Given the description of an element on the screen output the (x, y) to click on. 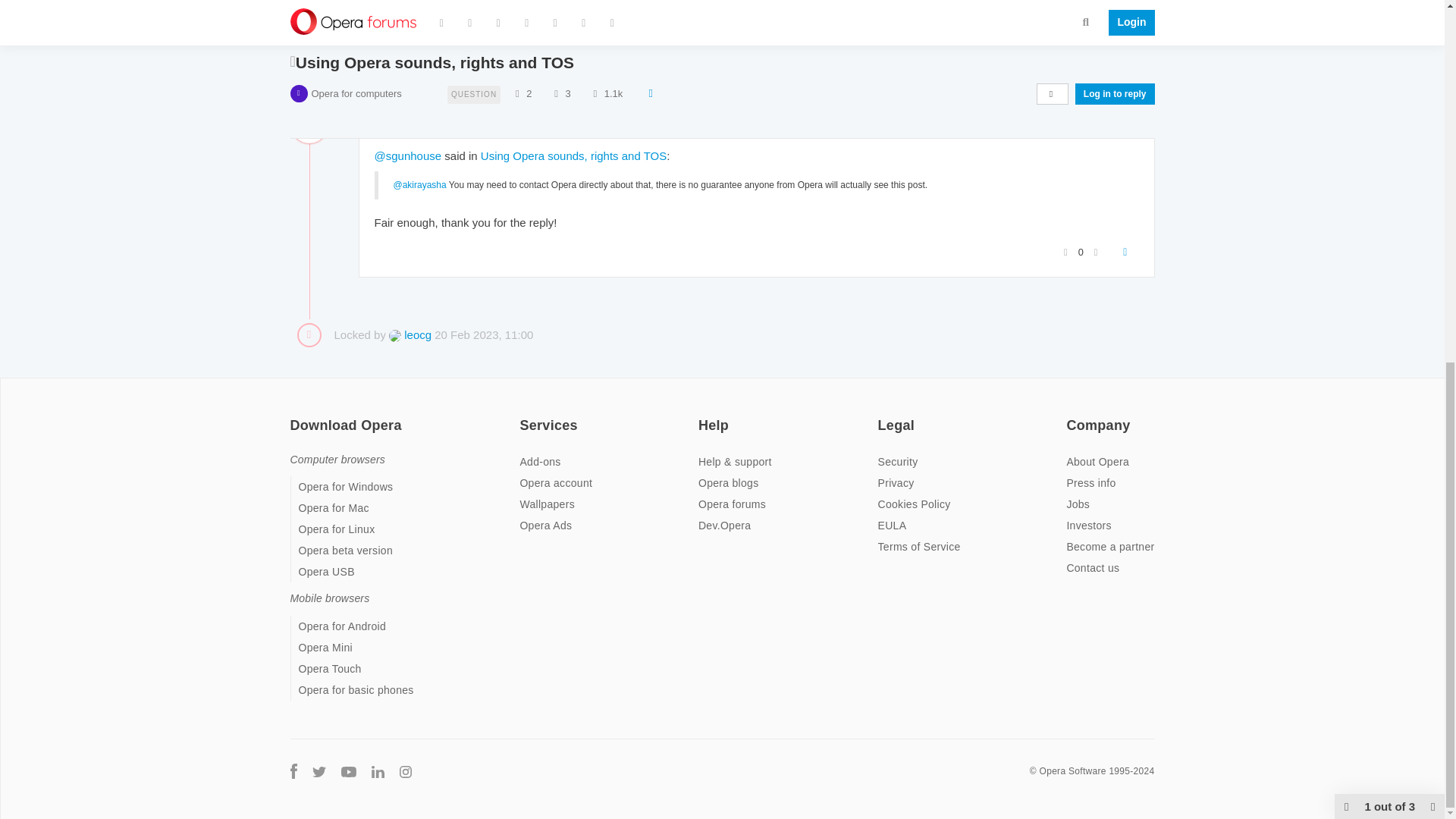
on (523, 415)
on (1070, 415)
on (881, 415)
on (702, 415)
on (293, 415)
